Given the description of an element on the screen output the (x, y) to click on. 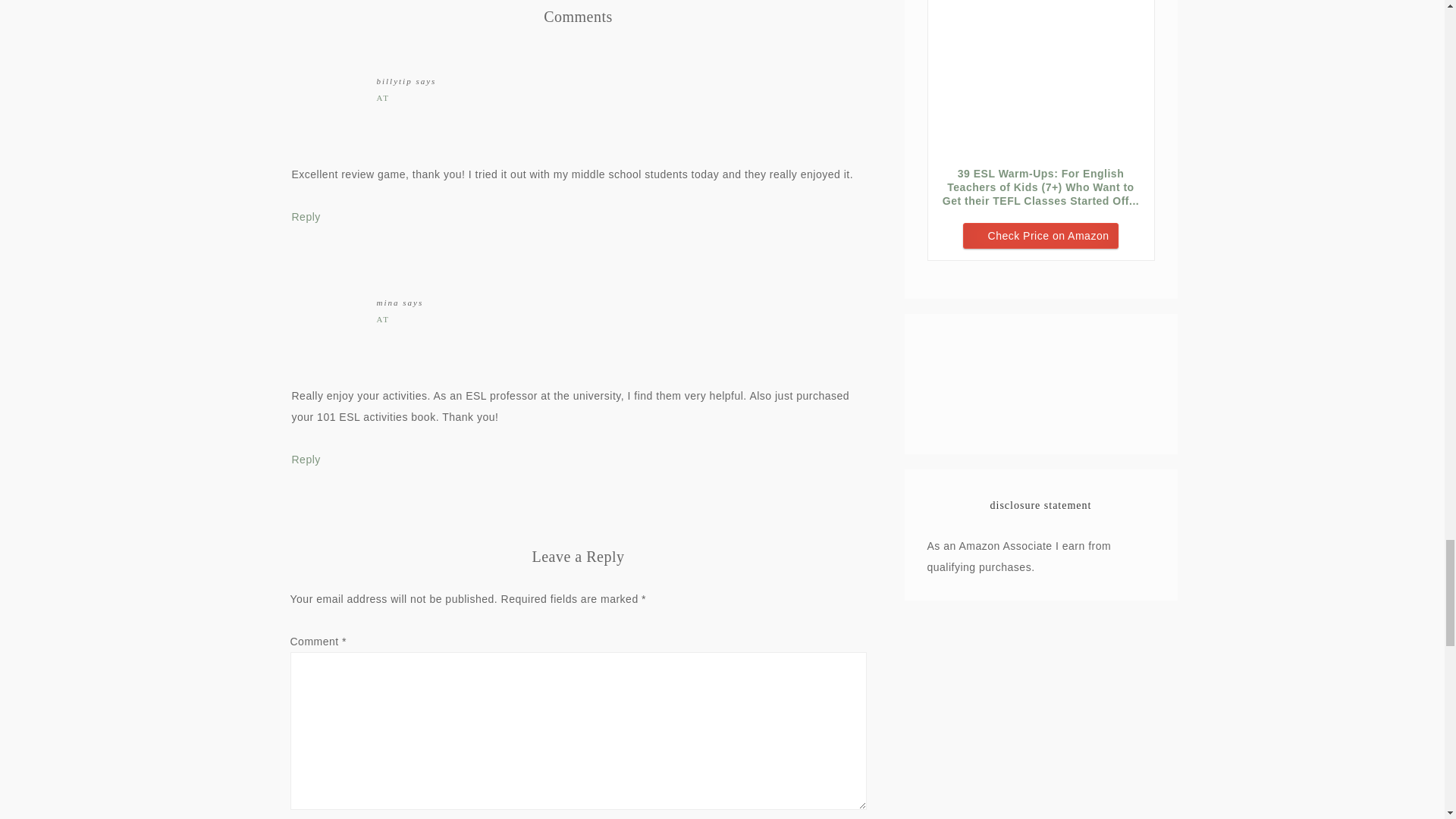
Reply (305, 459)
AT (381, 318)
Reply (305, 216)
AT (381, 97)
